Given the description of an element on the screen output the (x, y) to click on. 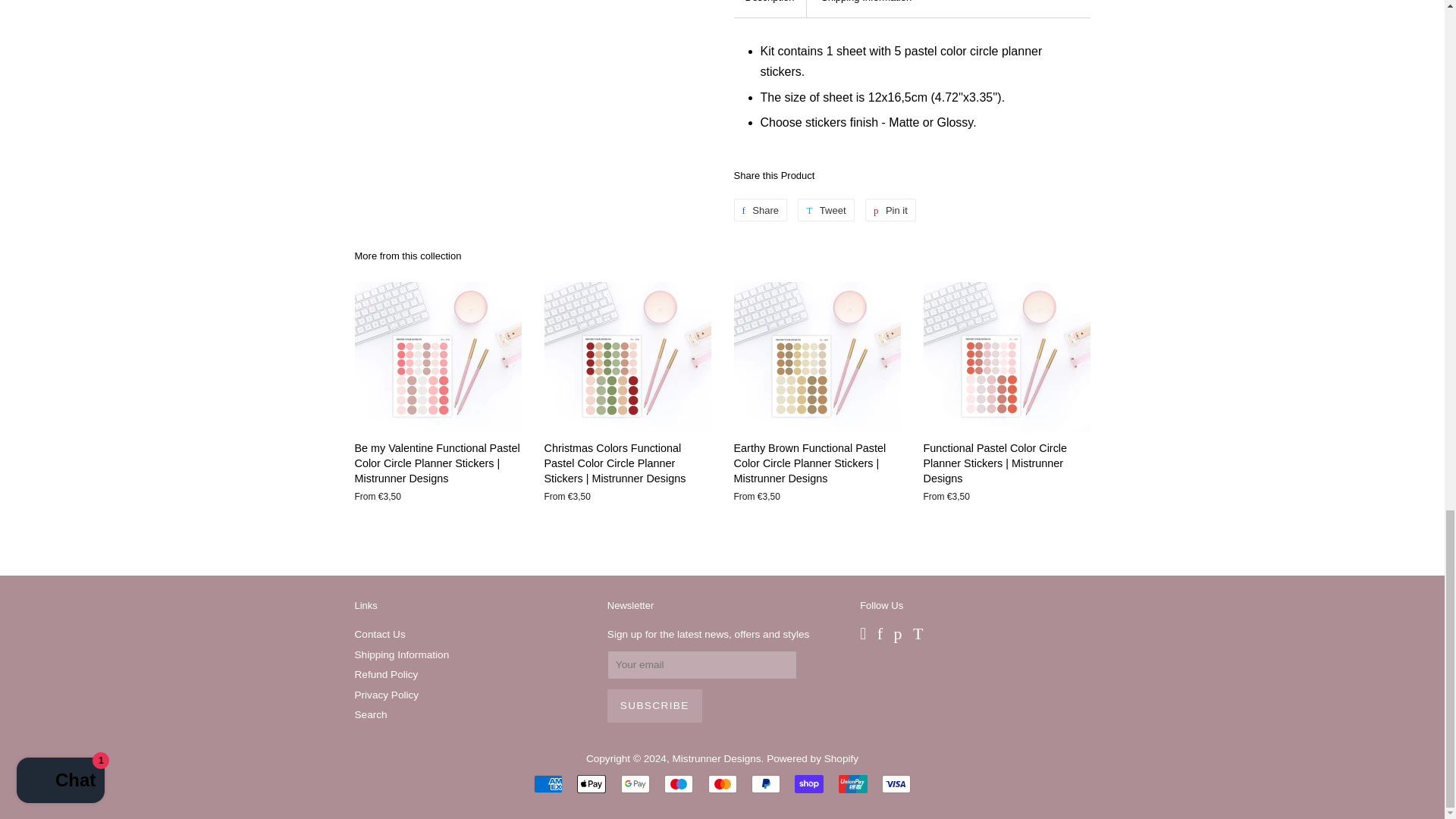
Share on Facebook (760, 210)
Apple Pay (590, 783)
Tweet on Twitter (825, 210)
Subscribe (654, 705)
Shop Pay (809, 783)
Google Pay (635, 783)
Maestro (678, 783)
Union Pay (852, 783)
American Express (548, 783)
Pin on Pinterest (889, 210)
PayPal (765, 783)
Mastercard (721, 783)
Visa (896, 783)
